Given the description of an element on the screen output the (x, y) to click on. 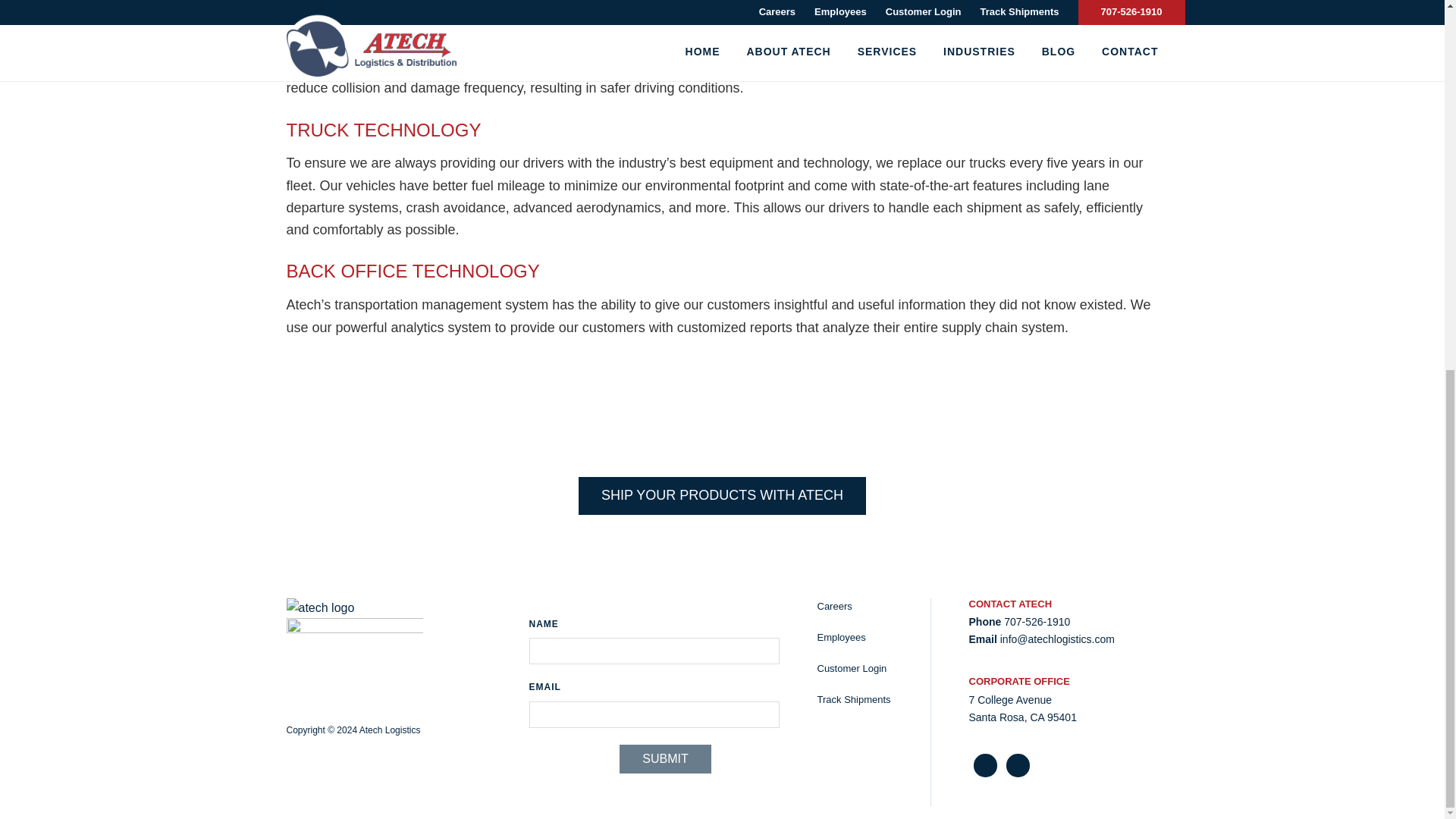
Customer Login (851, 668)
SHIP YOUR PRODUCTS WITH ATECH (722, 495)
Submit (665, 758)
Careers (833, 605)
Submit (665, 758)
Track Shipments (853, 699)
Employees (841, 636)
